Given the description of an element on the screen output the (x, y) to click on. 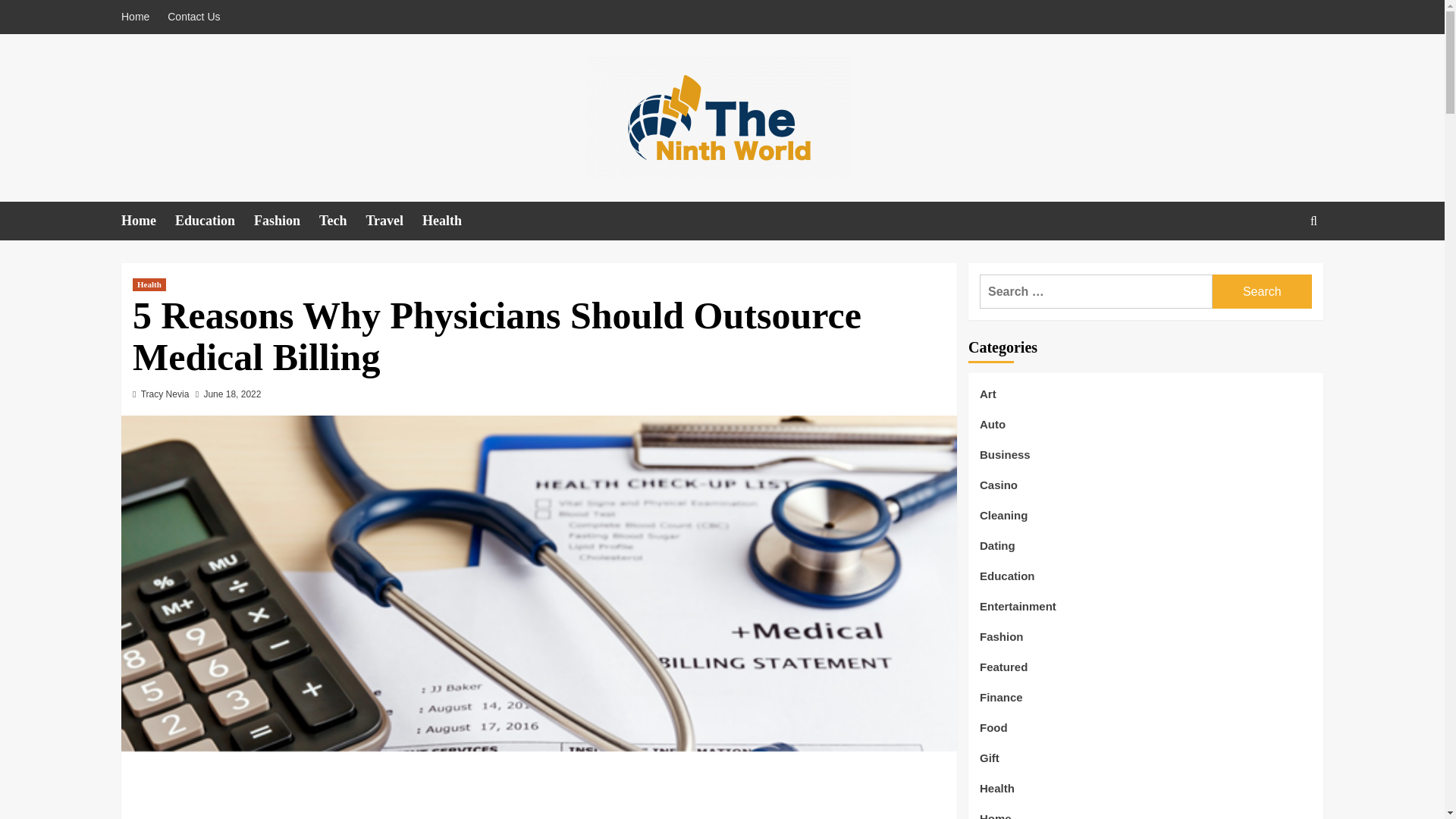
Search (1261, 291)
Fashion (285, 220)
Search (1261, 291)
Tech (341, 220)
Home (147, 220)
Search (1278, 267)
Health (451, 220)
Education (213, 220)
Travel (393, 220)
June 18, 2022 (231, 394)
